Given the description of an element on the screen output the (x, y) to click on. 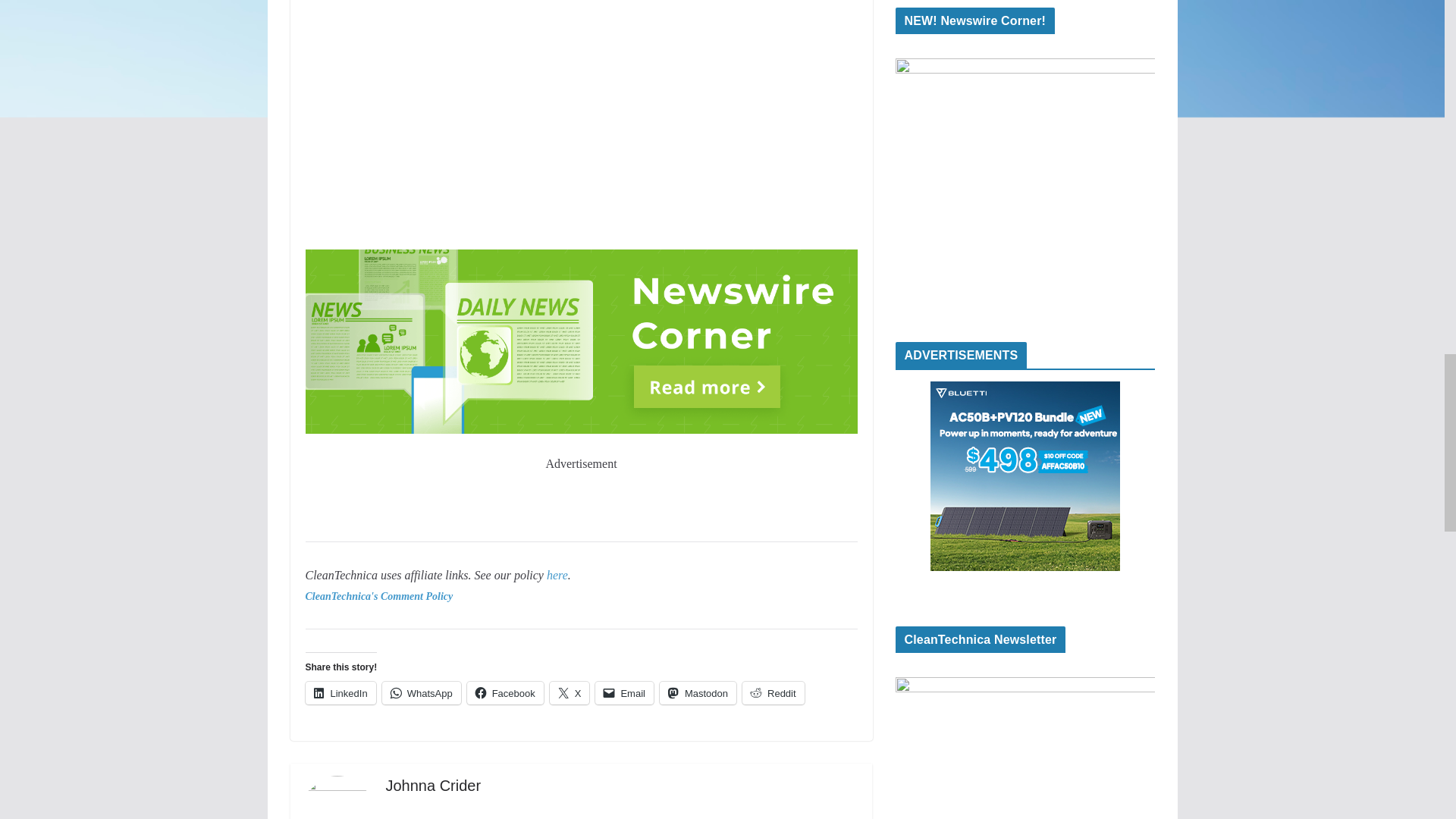
Click to share on LinkedIn (339, 692)
Click to email a link to a friend (624, 692)
Click to share on WhatsApp (421, 692)
Click to share on X (569, 692)
Click to share on Facebook (505, 692)
YouTube video player (580, 120)
Click to share on Mastodon (697, 692)
Click to share on Reddit (773, 692)
